Given the description of an element on the screen output the (x, y) to click on. 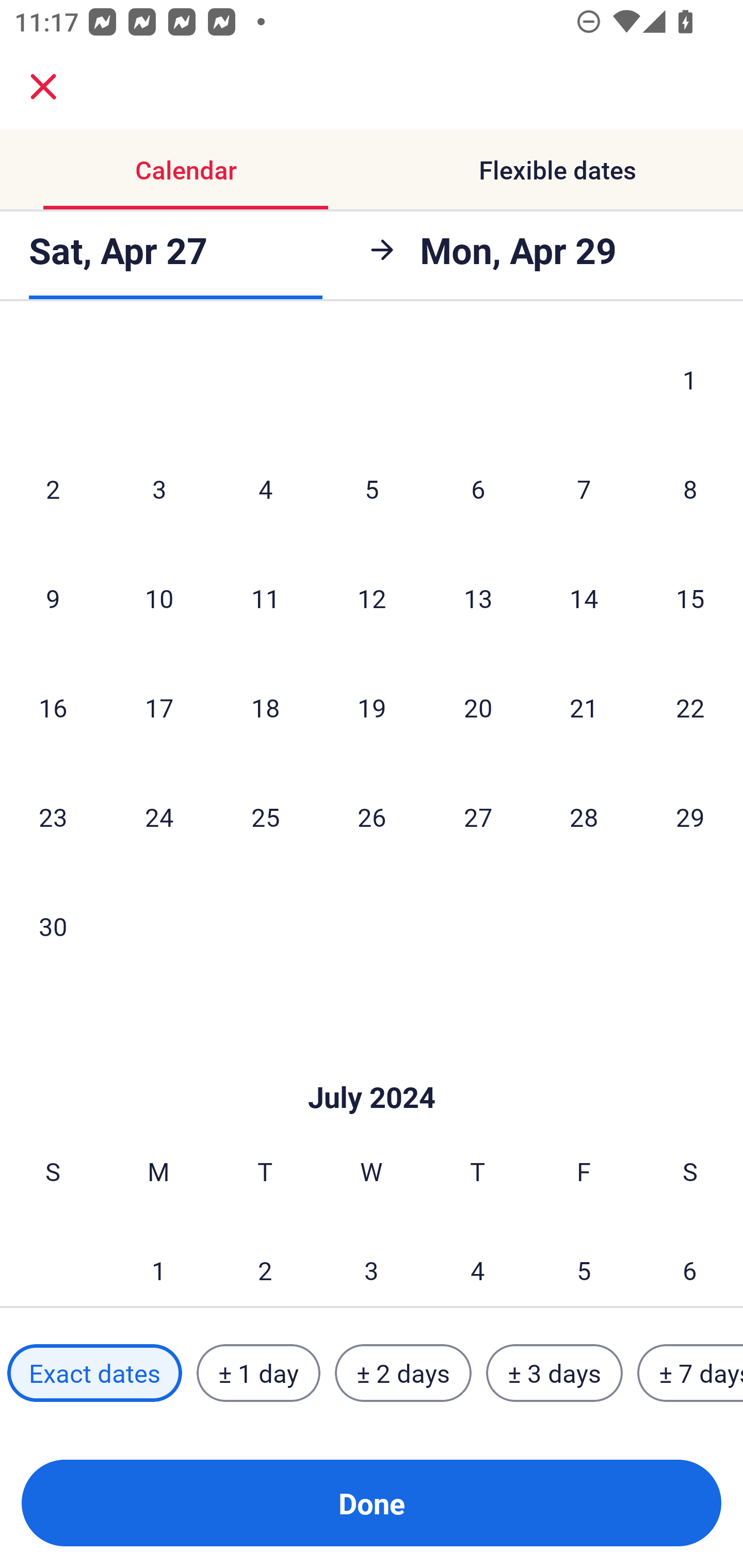
close. (43, 86)
Flexible dates (557, 170)
1 Saturday, June 1, 2024 (689, 381)
2 Sunday, June 2, 2024 (53, 487)
3 Monday, June 3, 2024 (159, 487)
4 Tuesday, June 4, 2024 (265, 487)
5 Wednesday, June 5, 2024 (371, 487)
6 Thursday, June 6, 2024 (477, 487)
7 Friday, June 7, 2024 (584, 487)
8 Saturday, June 8, 2024 (690, 487)
9 Sunday, June 9, 2024 (53, 597)
10 Monday, June 10, 2024 (159, 597)
11 Tuesday, June 11, 2024 (265, 597)
12 Wednesday, June 12, 2024 (371, 597)
13 Thursday, June 13, 2024 (477, 597)
14 Friday, June 14, 2024 (584, 597)
15 Saturday, June 15, 2024 (690, 597)
16 Sunday, June 16, 2024 (53, 706)
17 Monday, June 17, 2024 (159, 706)
18 Tuesday, June 18, 2024 (265, 706)
